Given the description of an element on the screen output the (x, y) to click on. 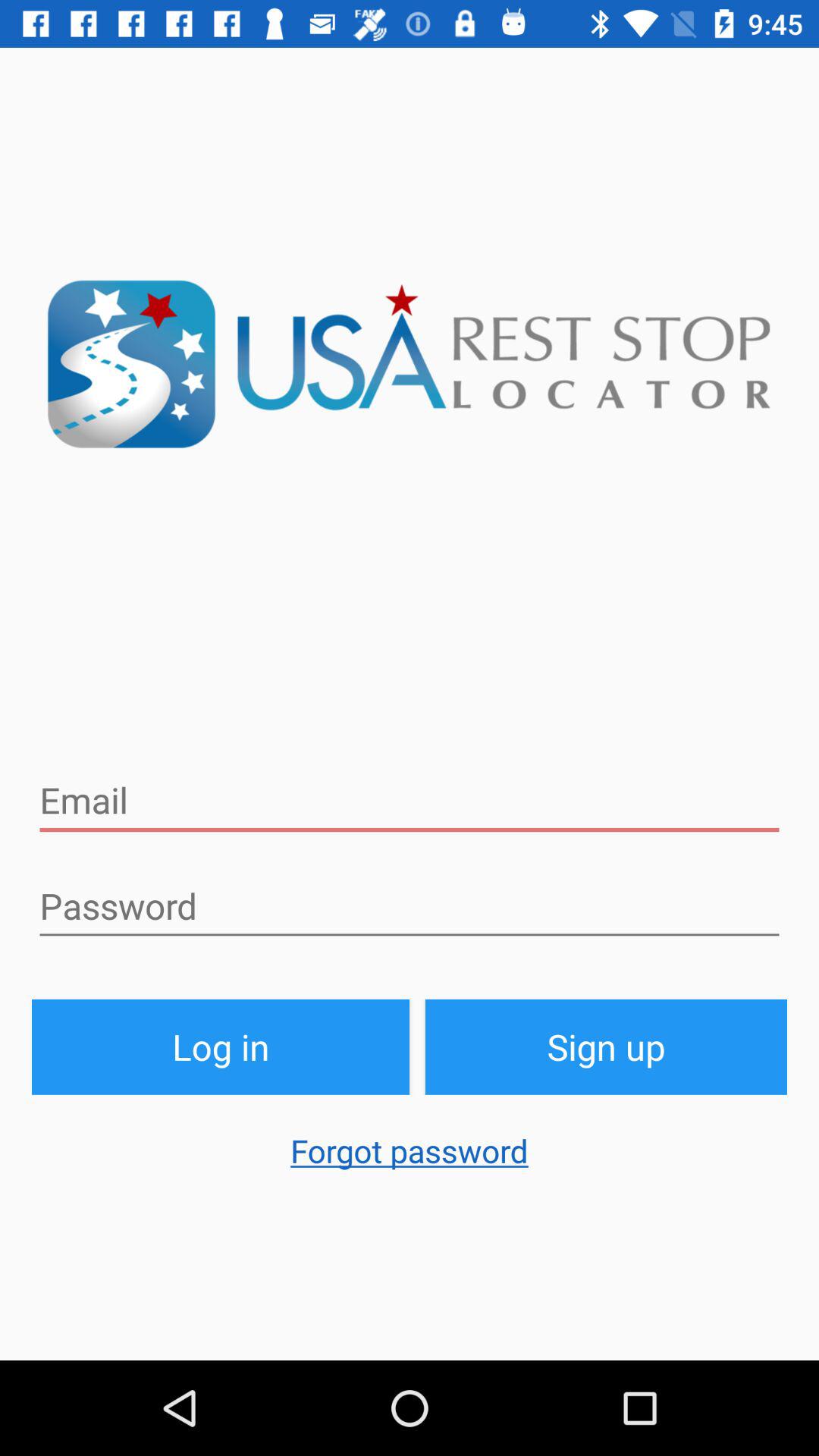
click the button above the forgot password item (220, 1046)
